Given the description of an element on the screen output the (x, y) to click on. 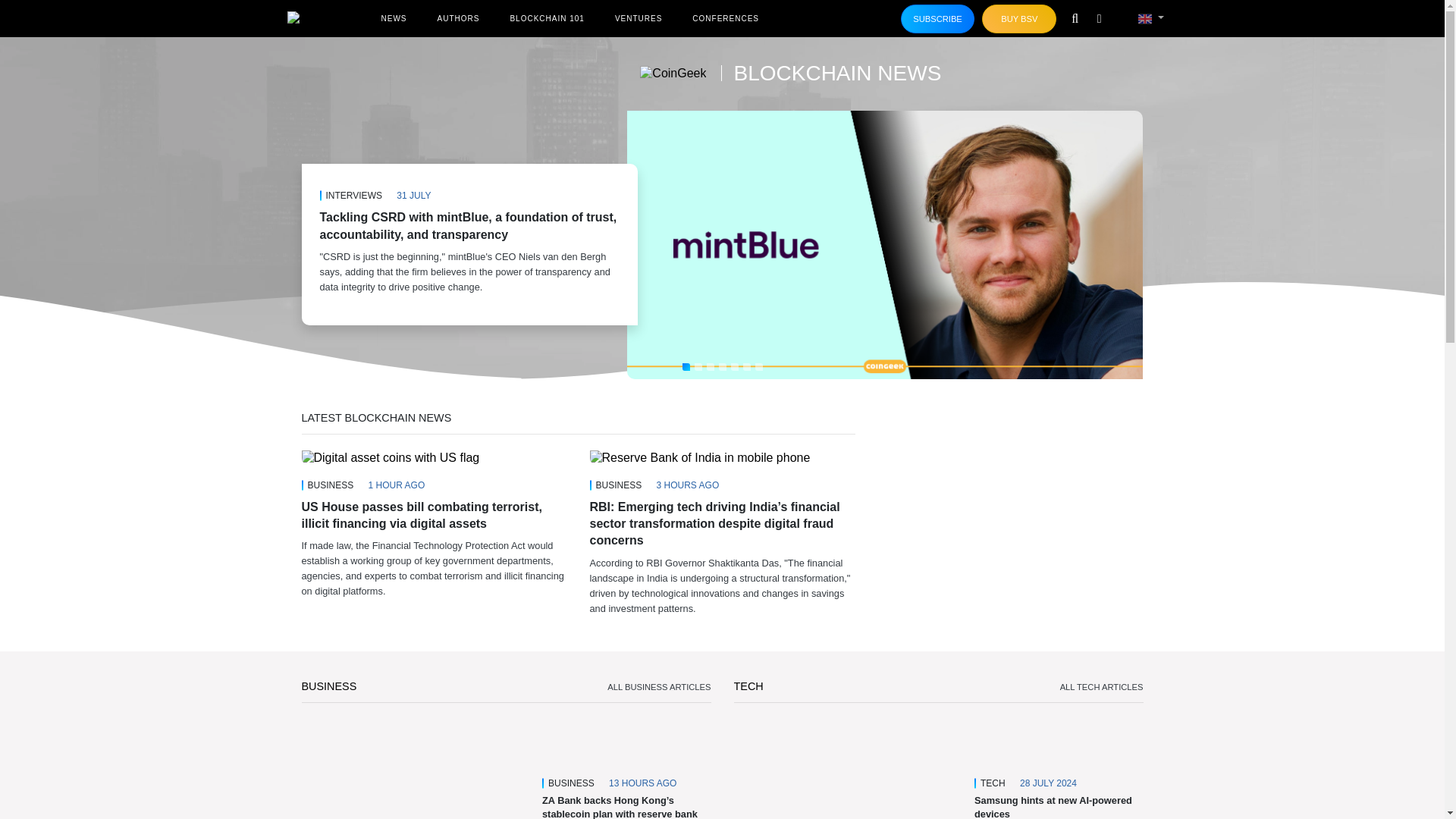
US digital asset bill (390, 458)
SUBSCRIBE (938, 18)
NEWS (392, 18)
BLOCKCHAIN 101 (546, 18)
AUTHORS (457, 18)
BUY BSV (1019, 18)
Stablecoin (416, 768)
Lenovo - Artificial Intelligence (847, 768)
Never miss an update again! Subscribe to Newsletter! (938, 18)
CONFERENCES (725, 18)
VENTURES (638, 18)
Reserve Bank of India (699, 458)
